Given the description of an element on the screen output the (x, y) to click on. 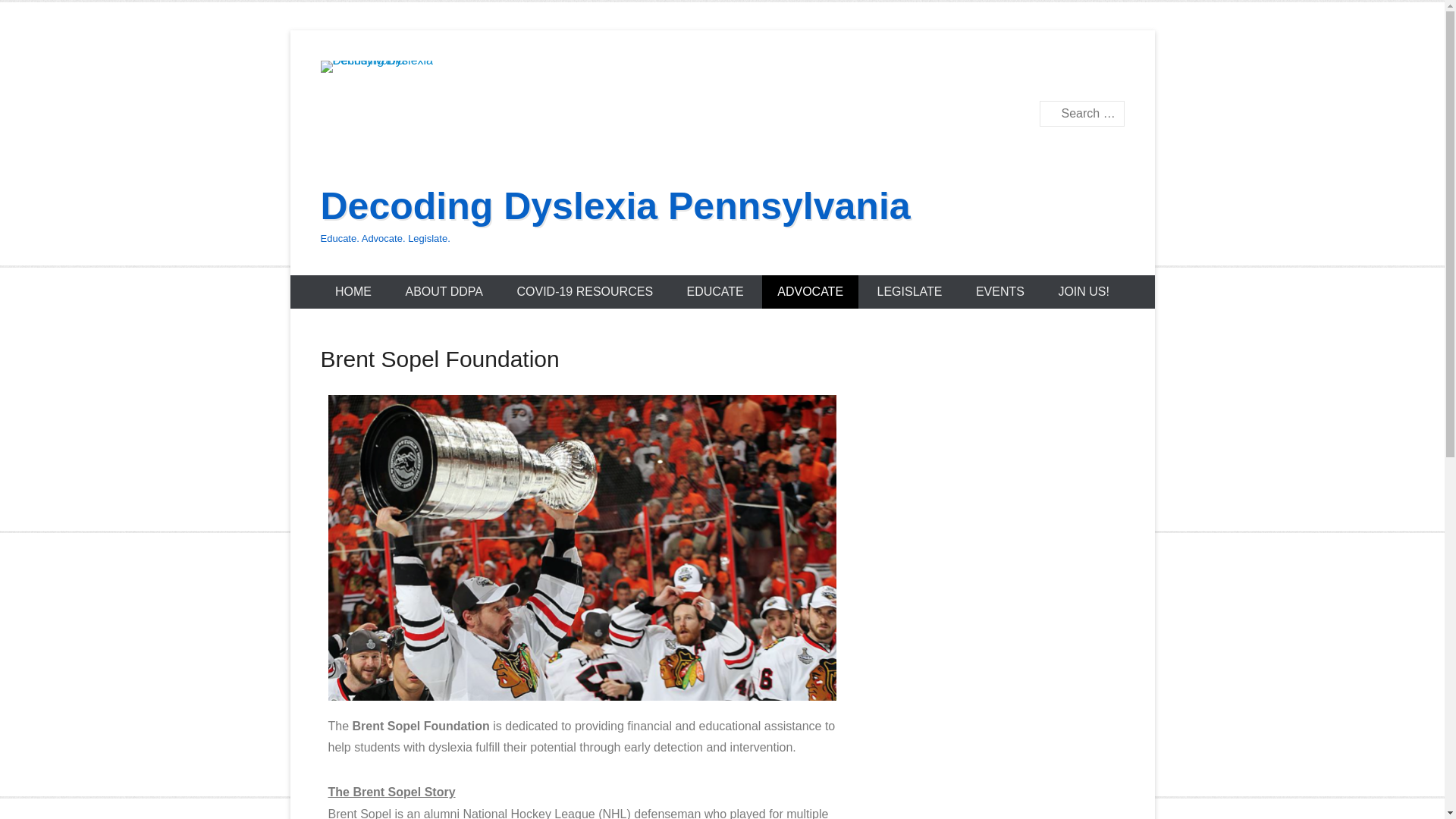
Search (32, 15)
Facebook (1013, 72)
Twitter (1046, 72)
EVENTS (999, 291)
ADVOCATE (810, 291)
Instagram (1111, 72)
EDUCATE (714, 291)
LEGISLATE (909, 291)
HOME (353, 291)
Twitter (1046, 72)
